Given the description of an element on the screen output the (x, y) to click on. 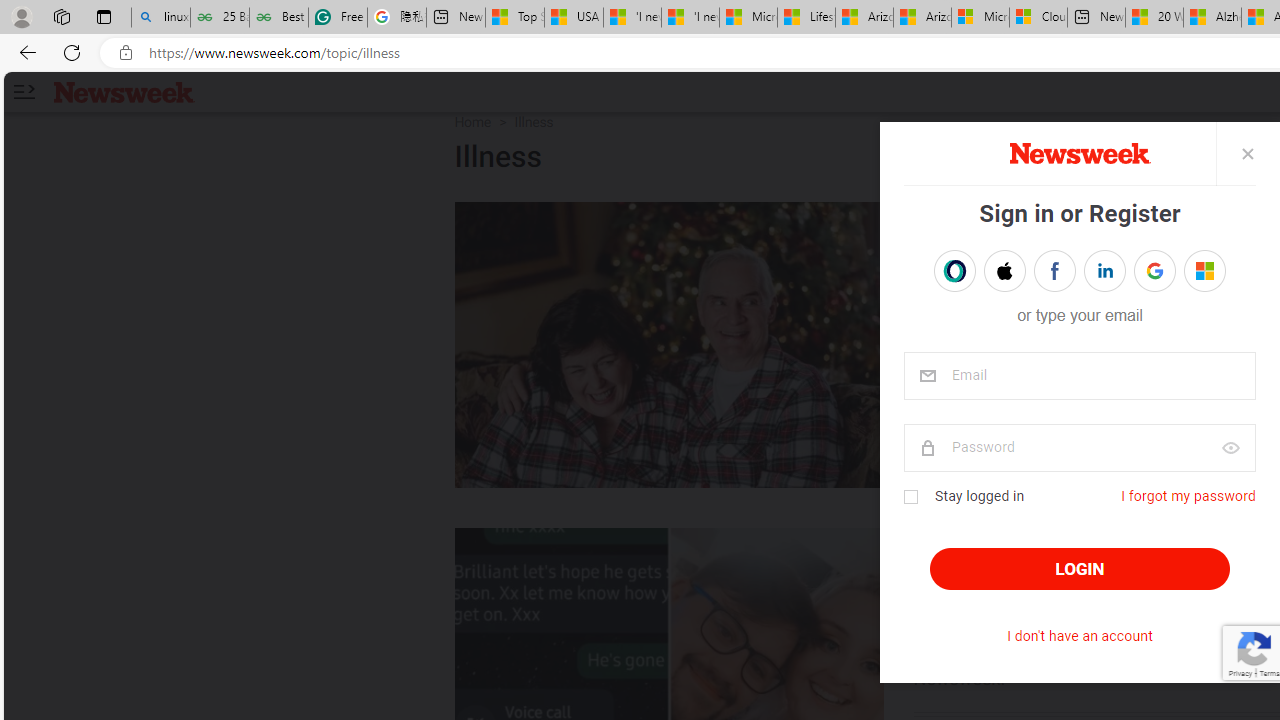
Sign in with LINKEDIN (1104, 270)
Class: checkbox (909, 497)
ON THE INTERNET (1014, 548)
I don't have an account (1079, 636)
Sign in with GOOGLE (1154, 270)
Lifestyle - MSN (806, 17)
Newsweek logo (123, 91)
Sign in with APPLE (1004, 270)
